Given the description of an element on the screen output the (x, y) to click on. 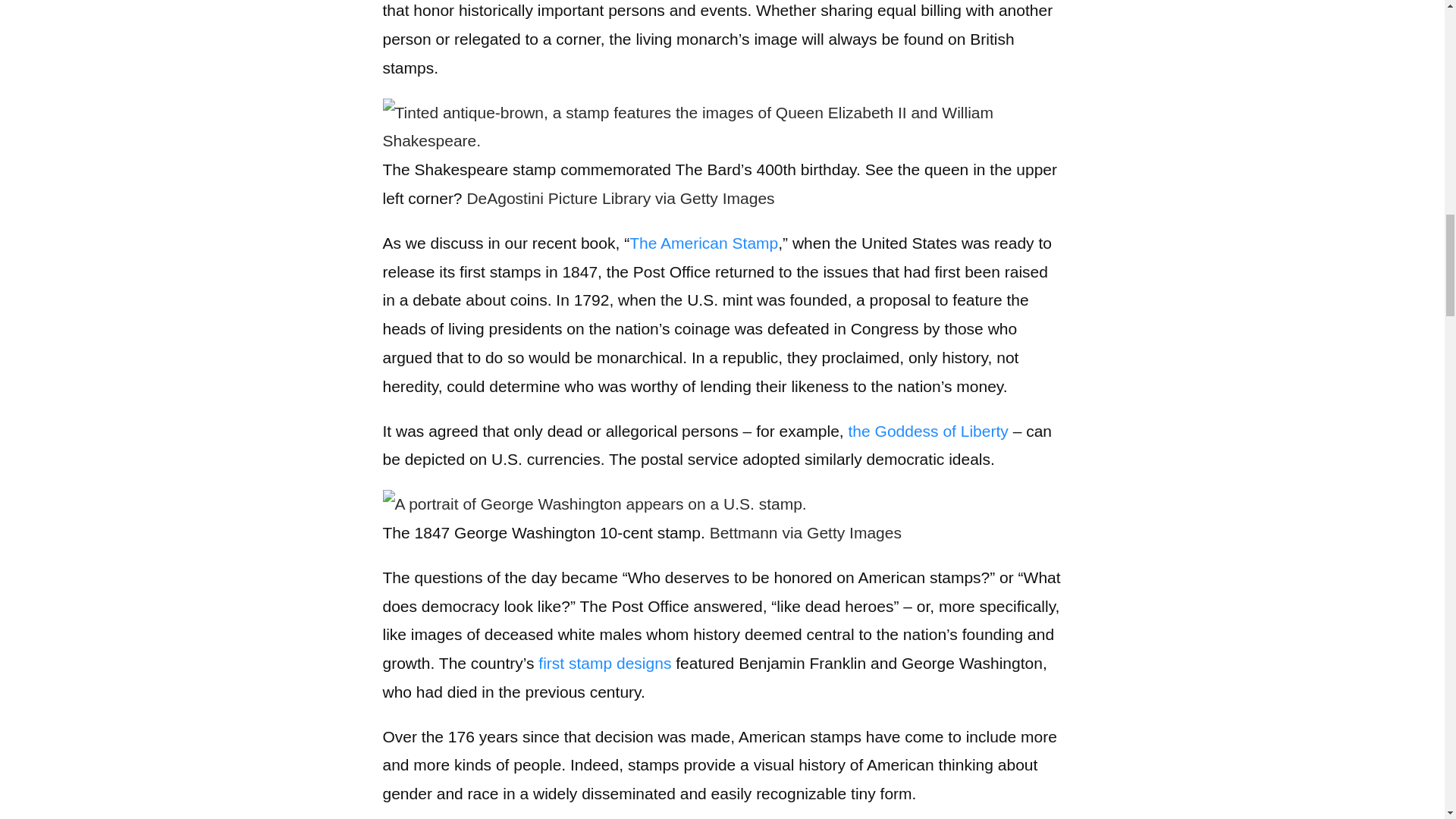
Bettmann via Getty Images (805, 532)
The American Stamp (702, 242)
first stamp designs (604, 662)
DeAgostini Picture Library via Getty Images (619, 198)
the Goddess of Liberty (928, 430)
